Given the description of an element on the screen output the (x, y) to click on. 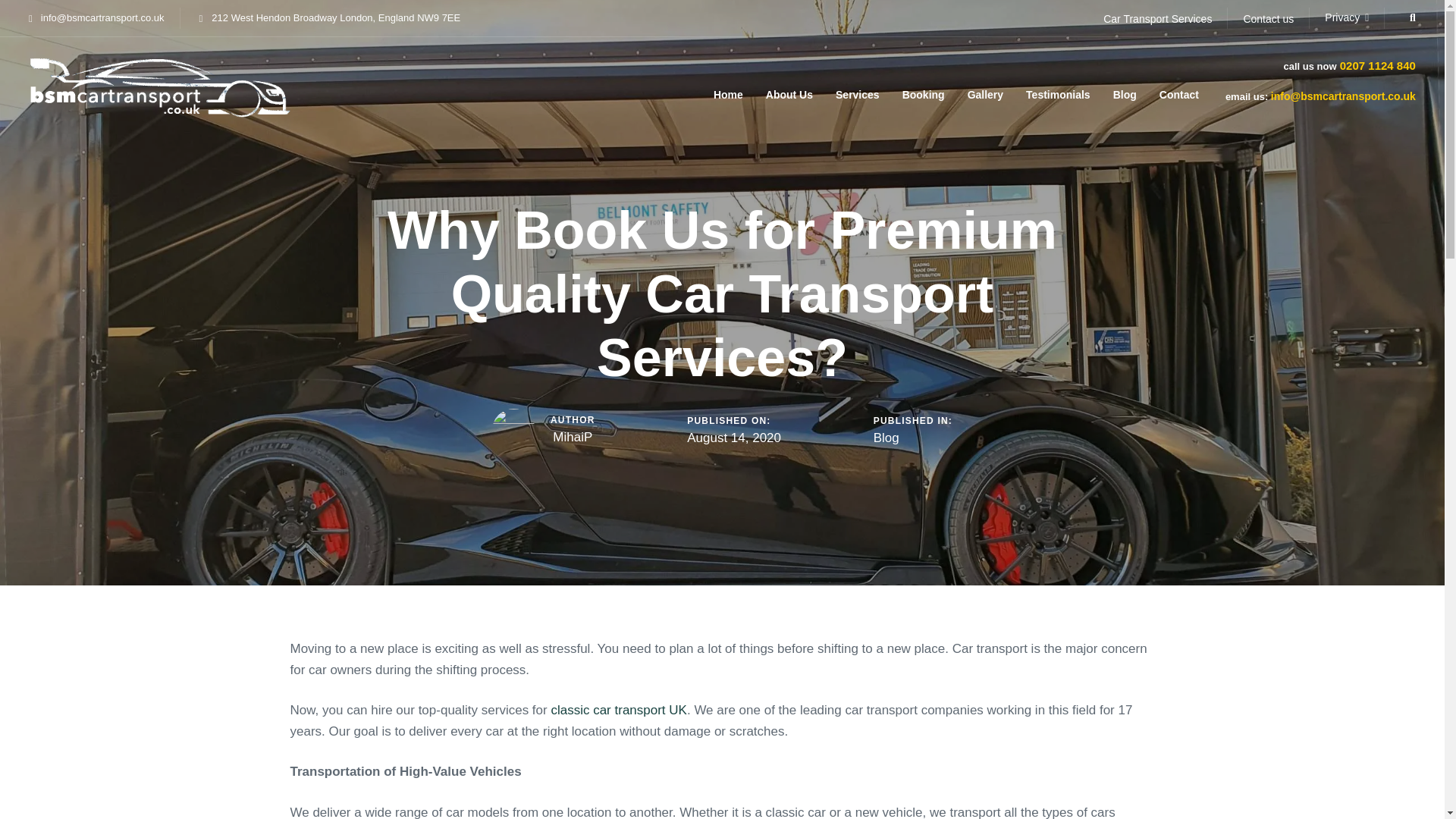
0207 1124 840 (1375, 64)
Blog (1125, 88)
MihaiP (572, 436)
Blog (886, 437)
Services (857, 88)
Testimonials (1058, 88)
Home (727, 88)
Car Transport Services (1157, 19)
Booking (923, 88)
August 14, 2020 (733, 437)
classic car transport UK (618, 709)
Contact (1178, 88)
Gallery (985, 88)
Contact us (1268, 19)
About Us (789, 88)
